Given the description of an element on the screen output the (x, y) to click on. 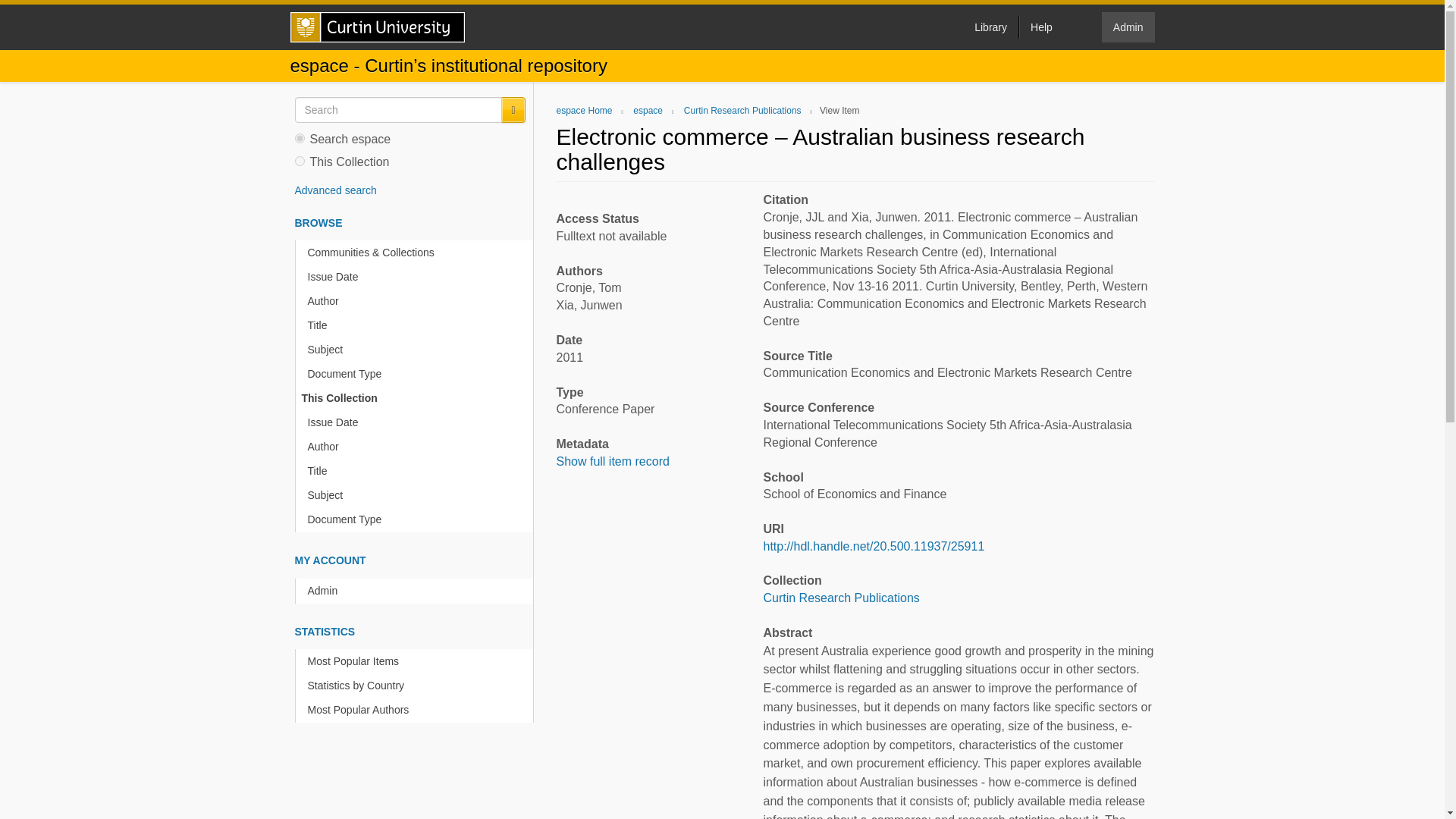
Help (1040, 26)
Most Popular Items (416, 661)
This Collection (413, 398)
Curtin University Homepage (376, 27)
Document Type (416, 373)
espace Home (584, 110)
Curtin Research Publications (840, 597)
Admin (416, 590)
Author (416, 301)
Author (416, 446)
